Given the description of an element on the screen output the (x, y) to click on. 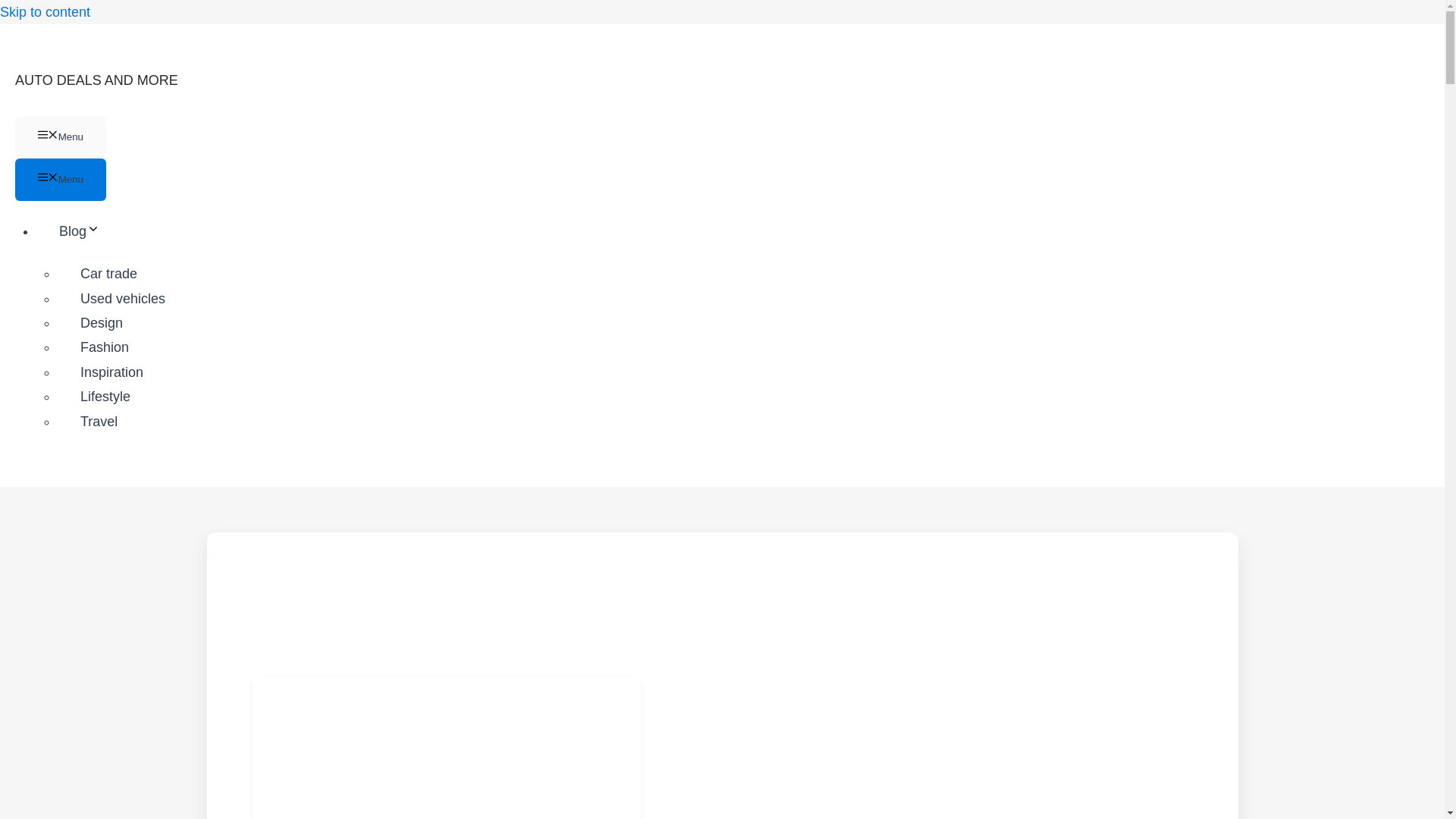
AUTO DEALS AND MORE (95, 79)
Inspiration (111, 372)
Menu (60, 179)
Design (101, 322)
Lifestyle (105, 396)
Fashion (104, 347)
Used vehicles (122, 298)
Blog (90, 231)
Car trade (109, 273)
Skip to content (45, 11)
Travel (98, 421)
Menu (60, 137)
Skip to content (45, 11)
